Given the description of an element on the screen output the (x, y) to click on. 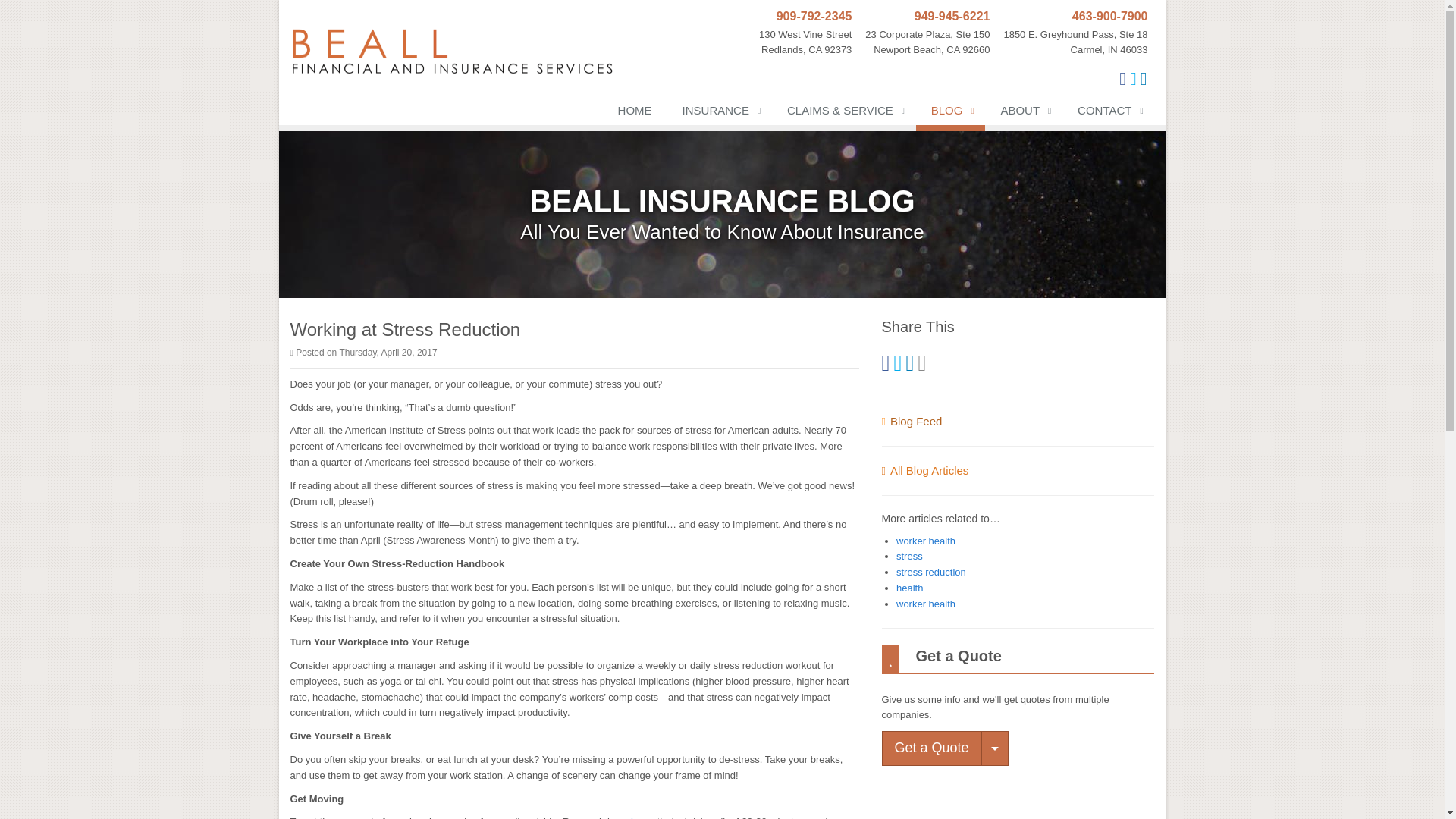
909-792-2345 (805, 16)
INSURANCE (718, 113)
HOME (805, 33)
